Given the description of an element on the screen output the (x, y) to click on. 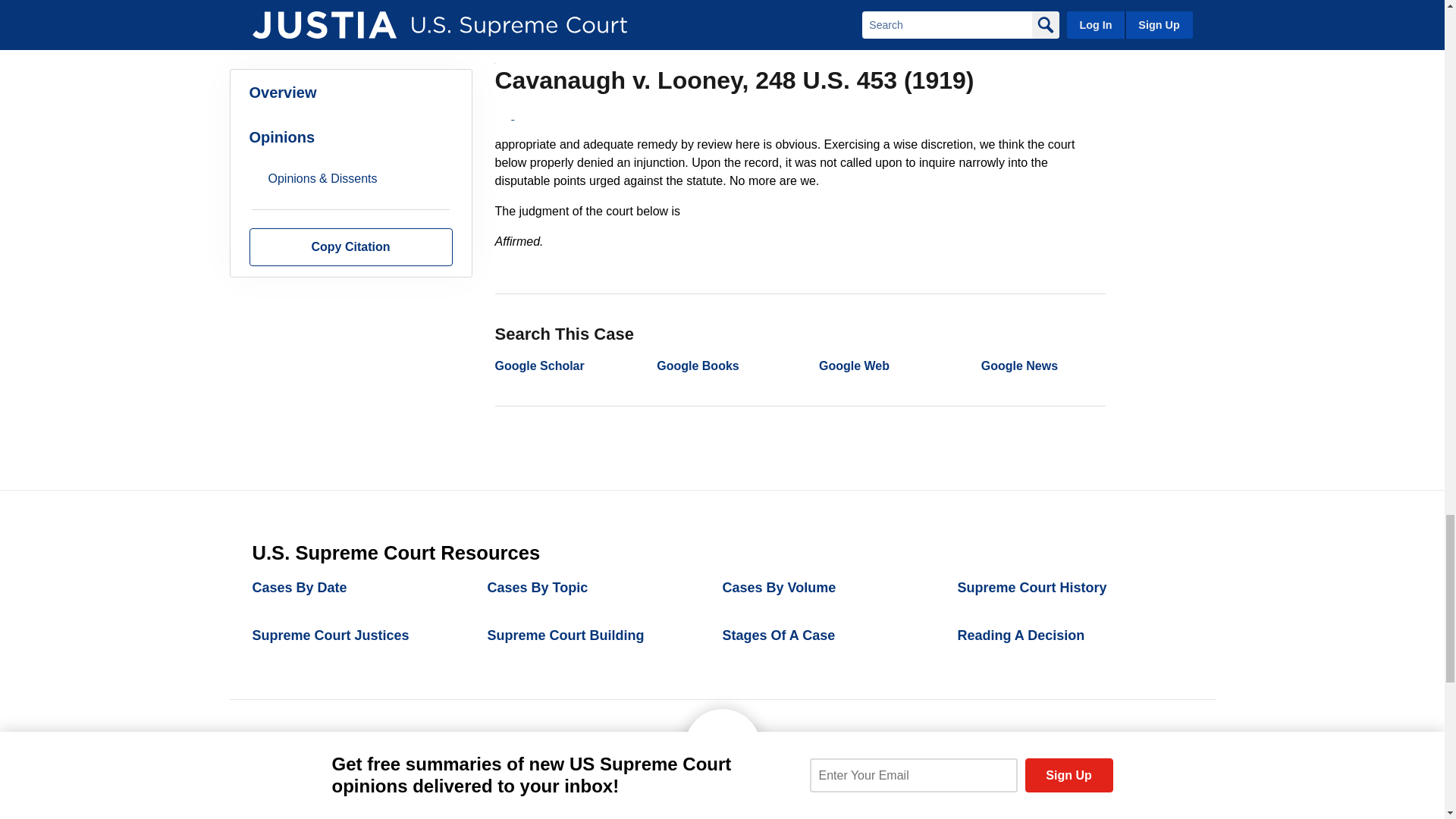
Law - Google Web (853, 365)
Law - Google News (1019, 365)
Law - Google Books (697, 365)
Law - Google Scholar (539, 365)
